Given the description of an element on the screen output the (x, y) to click on. 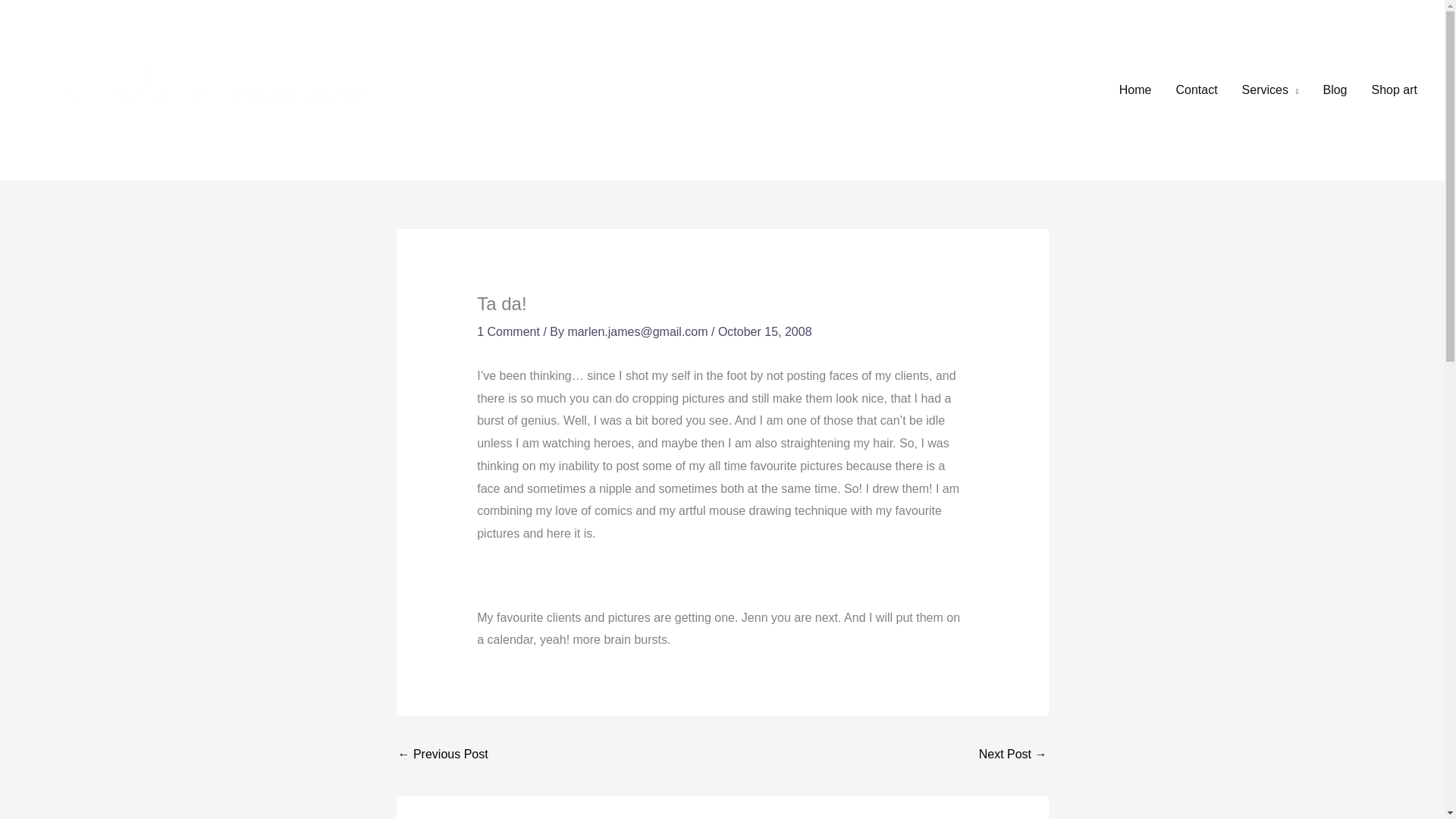
Blog (1334, 90)
Shop art (1394, 90)
Lace and lipstick (1012, 755)
Contact (1195, 90)
Services (1270, 90)
ha! I am done! (442, 755)
1 Comment (508, 331)
Home (1134, 90)
